Given the description of an element on the screen output the (x, y) to click on. 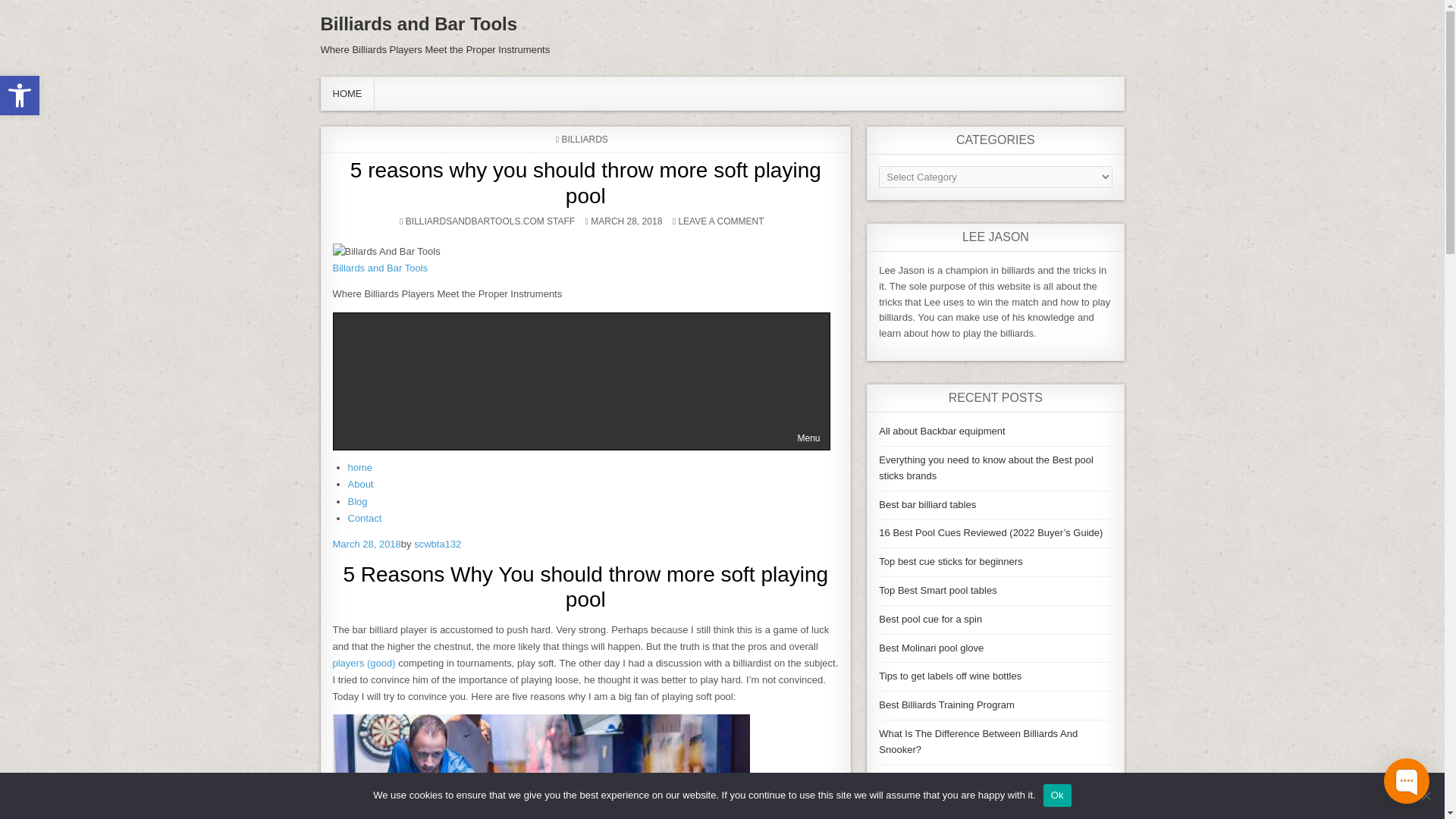
5 Reasons Why You Should Throw Softer Playing Pool (540, 766)
Accessibility Tools (19, 95)
home (359, 467)
About (19, 95)
Menu (359, 483)
Billards and Bar Tools (580, 381)
Blog (379, 267)
5 Reasons Why You Should Throw More Soft Playing Pool 1 (356, 501)
Billiards and Bar Tools (385, 251)
Best bar billiard tables (418, 23)
Contact (927, 504)
March 28, 2018 (364, 518)
All about Backbar equipment (365, 543)
